Given the description of an element on the screen output the (x, y) to click on. 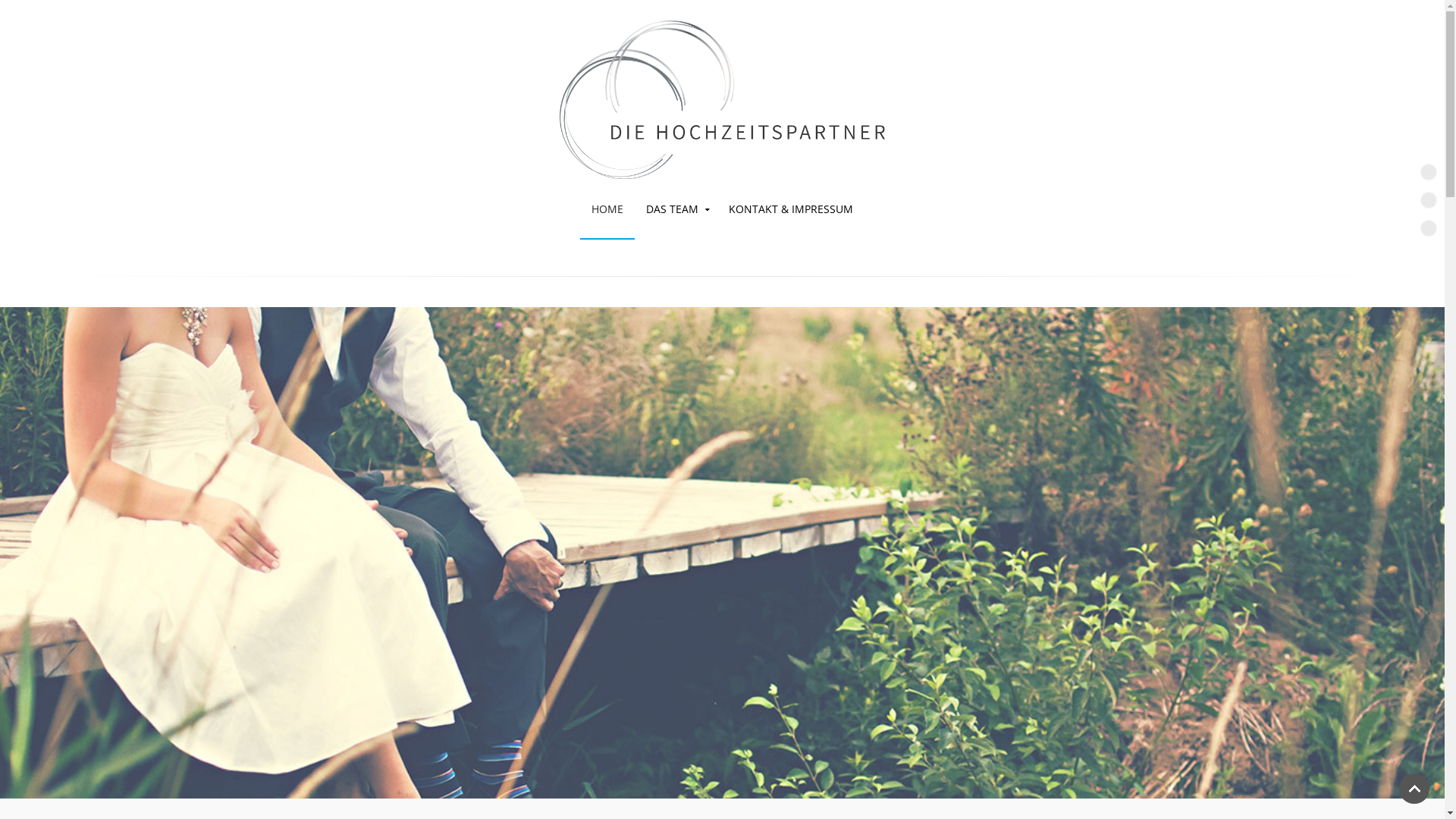
DAS TEAM Element type: text (675, 208)
  Element type: text (721, 89)
KONTAKT & IMPRESSUM Element type: text (790, 208)
Logo Hochzeitspartner Element type: hover (721, 99)
Top B Element type: text (1428, 199)
Main Content Element type: text (1428, 227)
HOME Element type: text (607, 208)
Top A Element type: text (1428, 171)
